Given the description of an element on the screen output the (x, y) to click on. 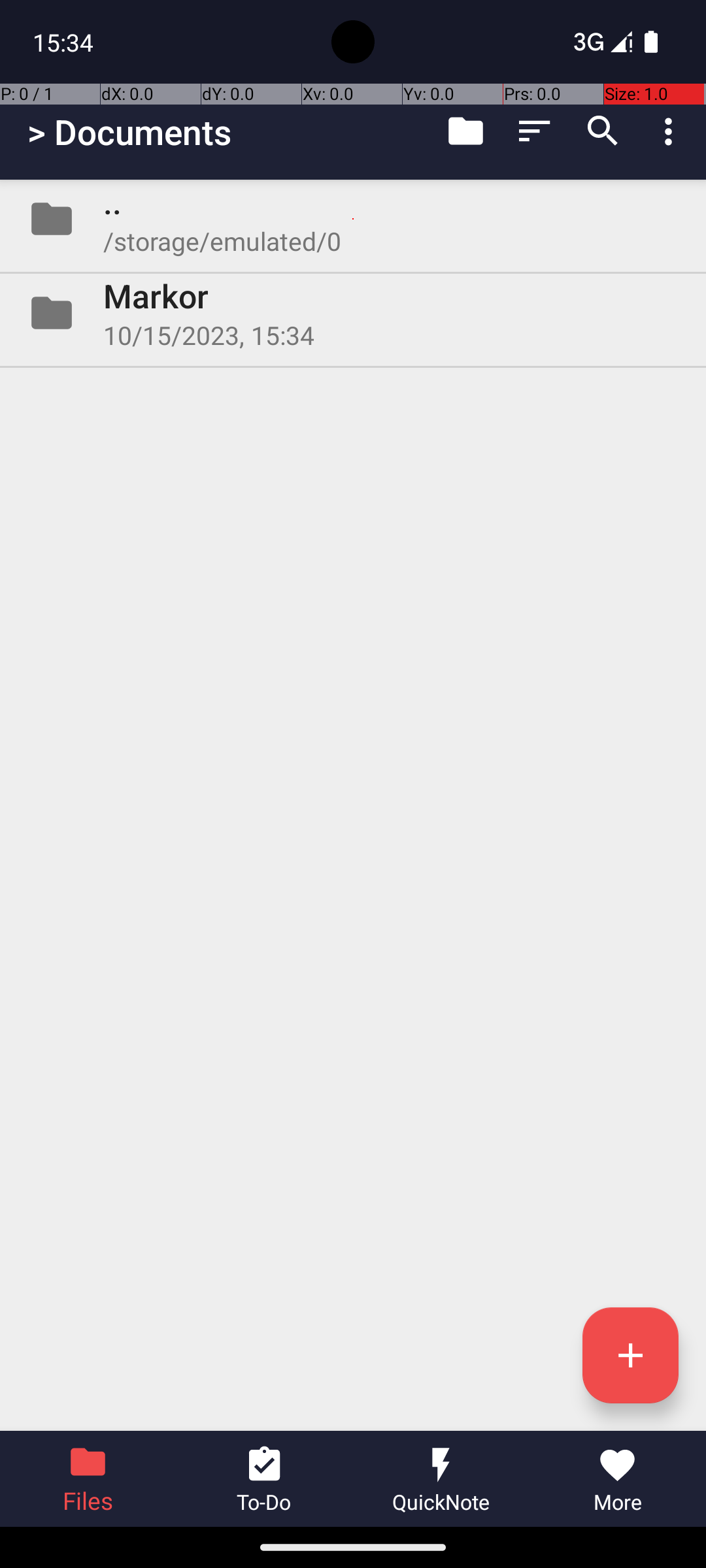
> Documents Element type: android.widget.TextView (129, 131)
Folder .. /storage/emulated/0/Documents Element type: android.widget.LinearLayout (353, 218)
Folder Markor 10/15/2023, 15:34 Element type: android.widget.LinearLayout (353, 312)
